Given the description of an element on the screen output the (x, y) to click on. 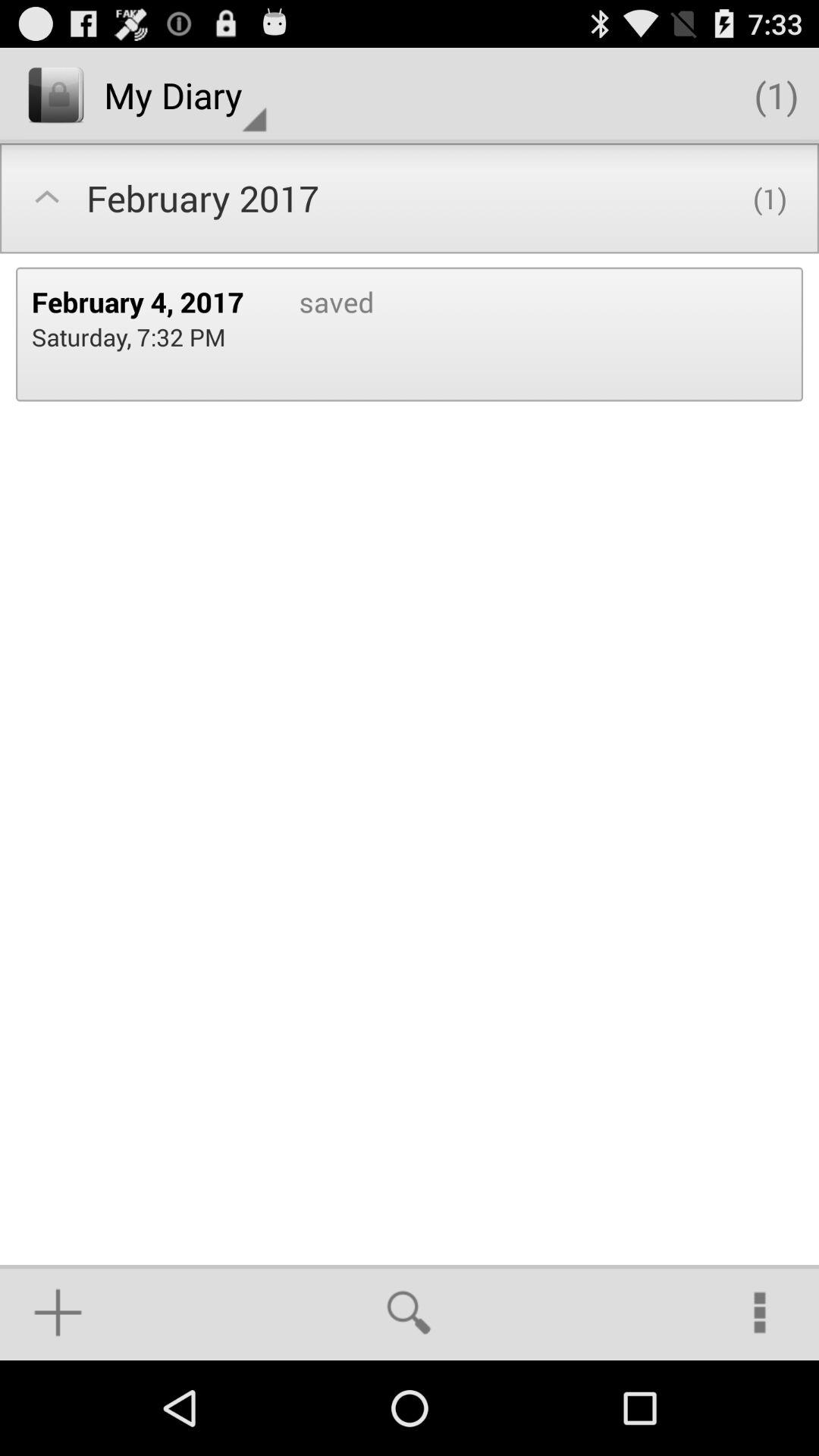
click the item at the bottom left corner (58, 1312)
